Given the description of an element on the screen output the (x, y) to click on. 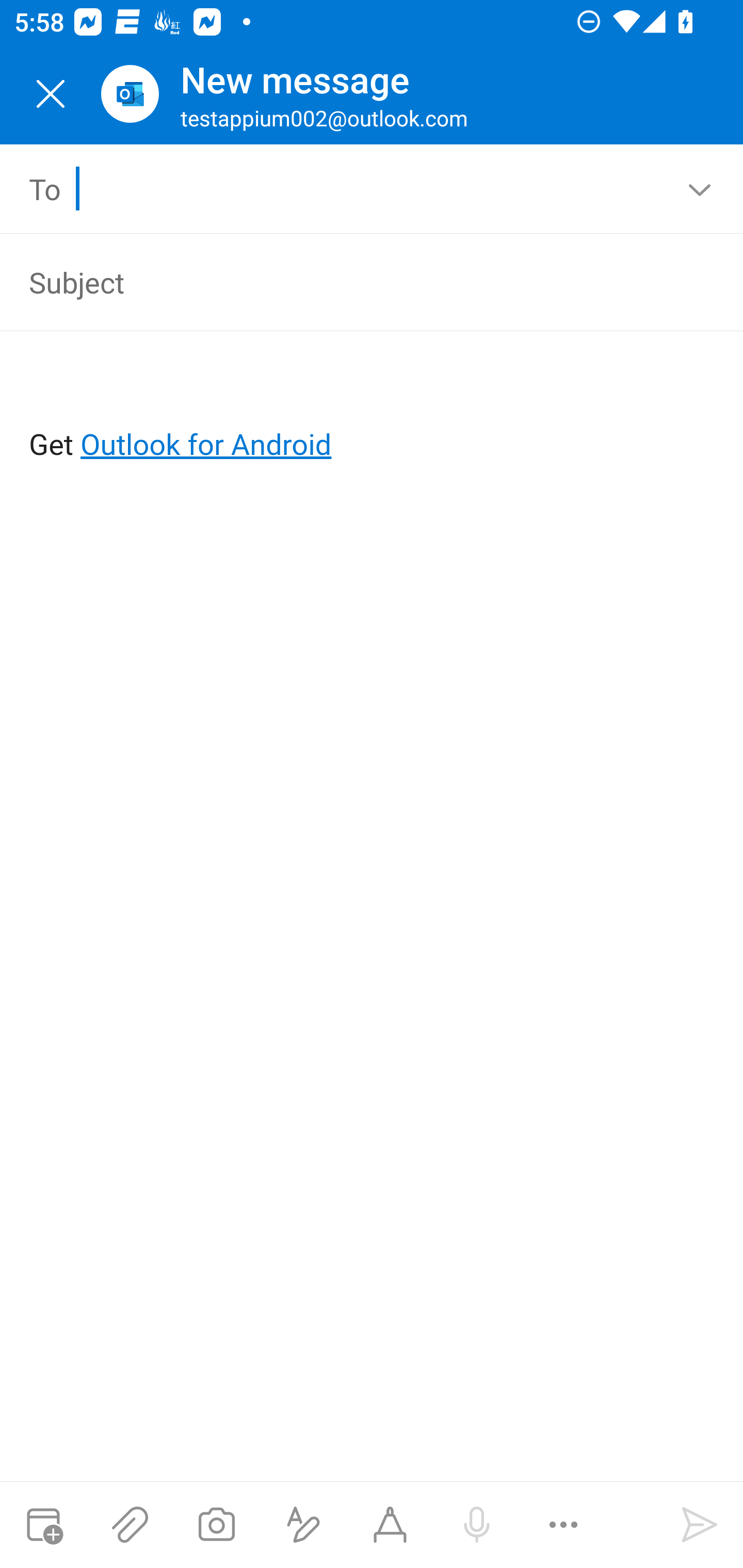
Close (50, 93)
Subject (342, 281)


Get Outlook for Android (372, 411)
Attach meeting (43, 1524)
Attach files (129, 1524)
Take a photo (216, 1524)
Show formatting options (303, 1524)
Start Ink compose (389, 1524)
More options (563, 1524)
Send (699, 1524)
